Given the description of an element on the screen output the (x, y) to click on. 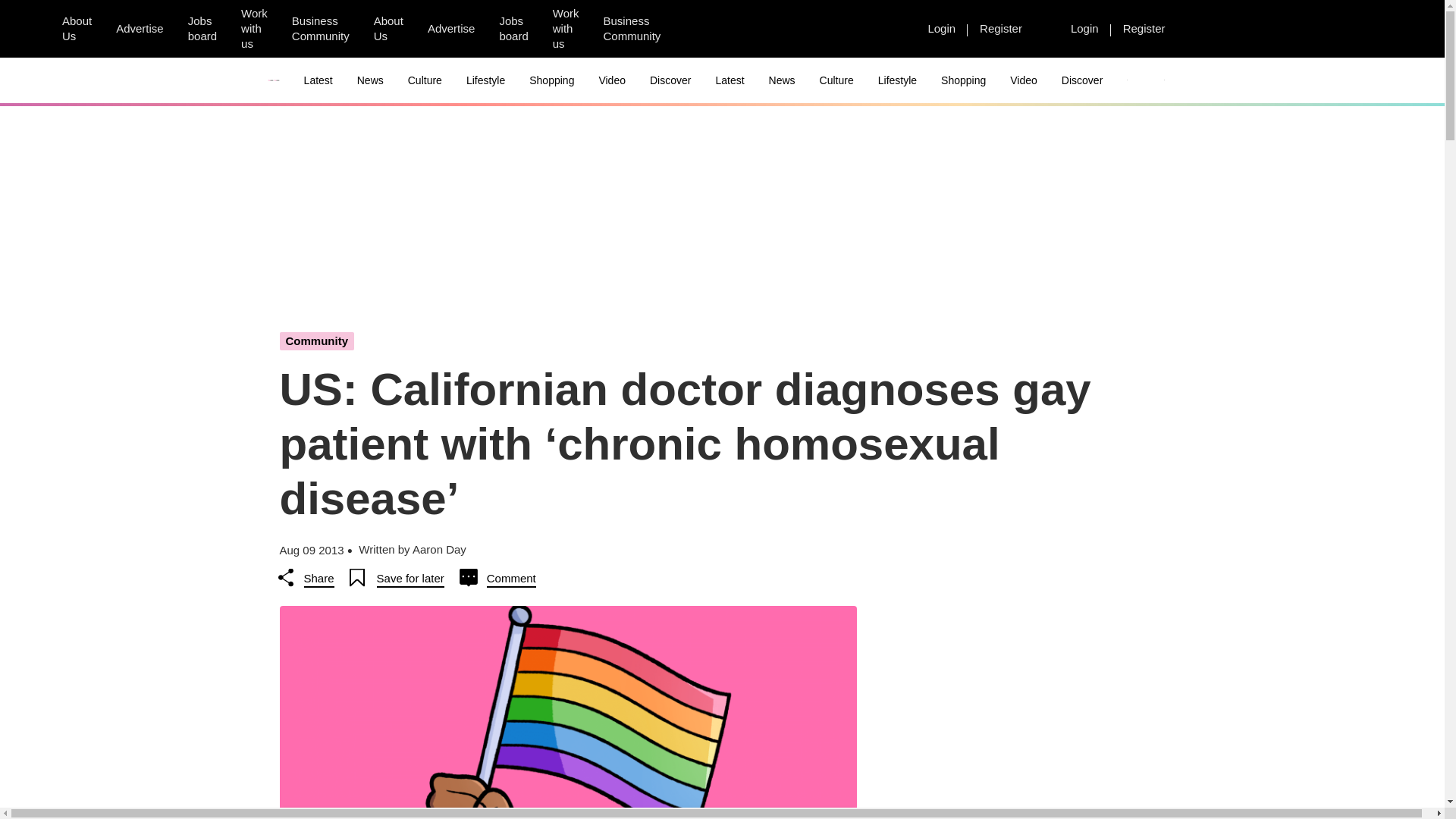
Advertise (450, 28)
Work with us (253, 28)
Jobs board (513, 28)
Follow PinkNews on LinkedIn (775, 28)
Register (1000, 28)
News (370, 79)
About Us (76, 28)
Advertise (139, 28)
Register (1143, 28)
Login (1084, 28)
Business Community (320, 28)
Business Community (631, 28)
Latest (318, 79)
Work with us (565, 28)
Follow PinkNews on LinkedIn (885, 28)
